Given the description of an element on the screen output the (x, y) to click on. 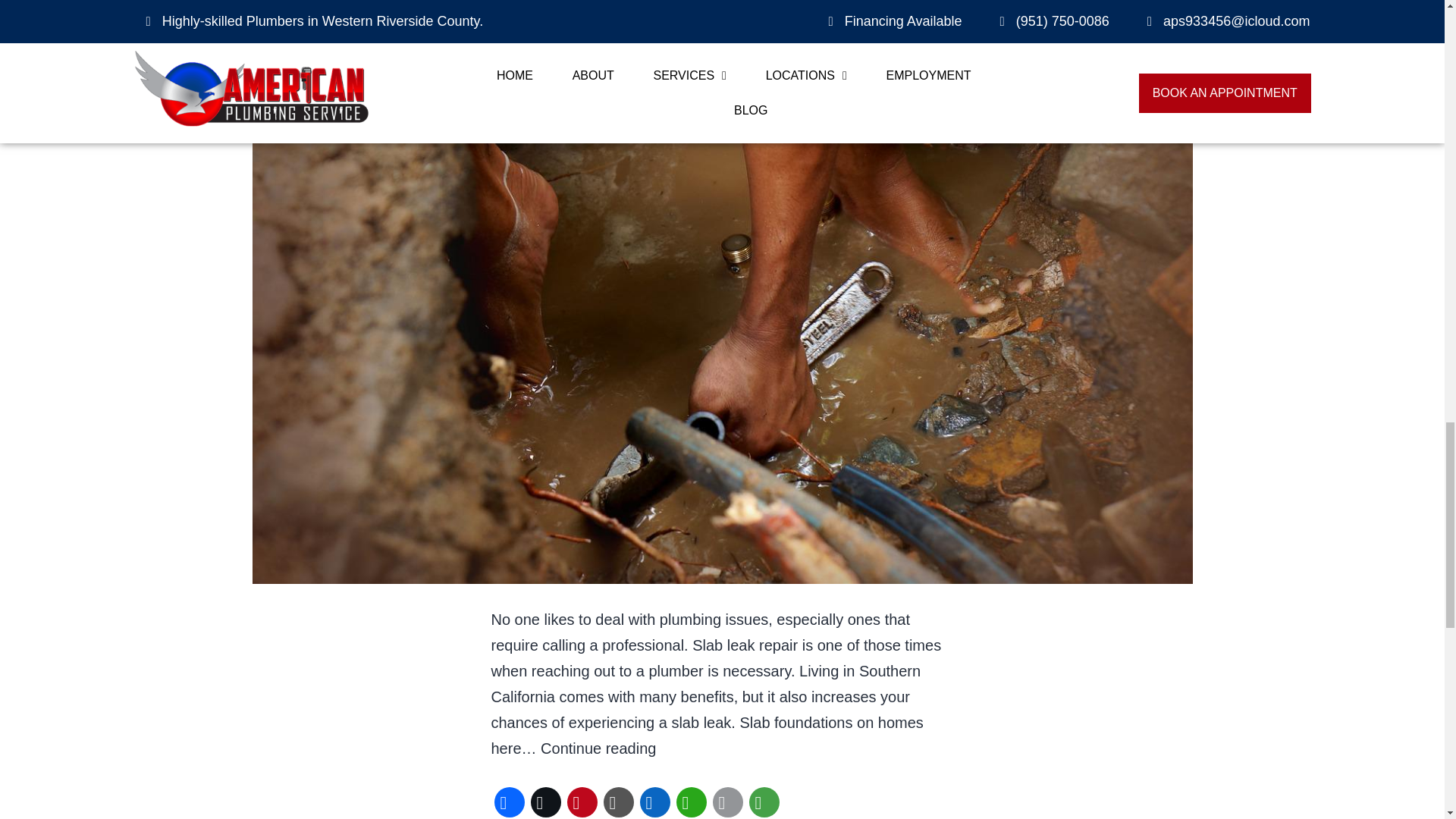
WhatsApp (691, 801)
More Options (764, 801)
Copy Link (618, 801)
Email This (727, 801)
Pinterest (581, 801)
LinkedIn (654, 801)
Facebook (509, 801)
